Given the description of an element on the screen output the (x, y) to click on. 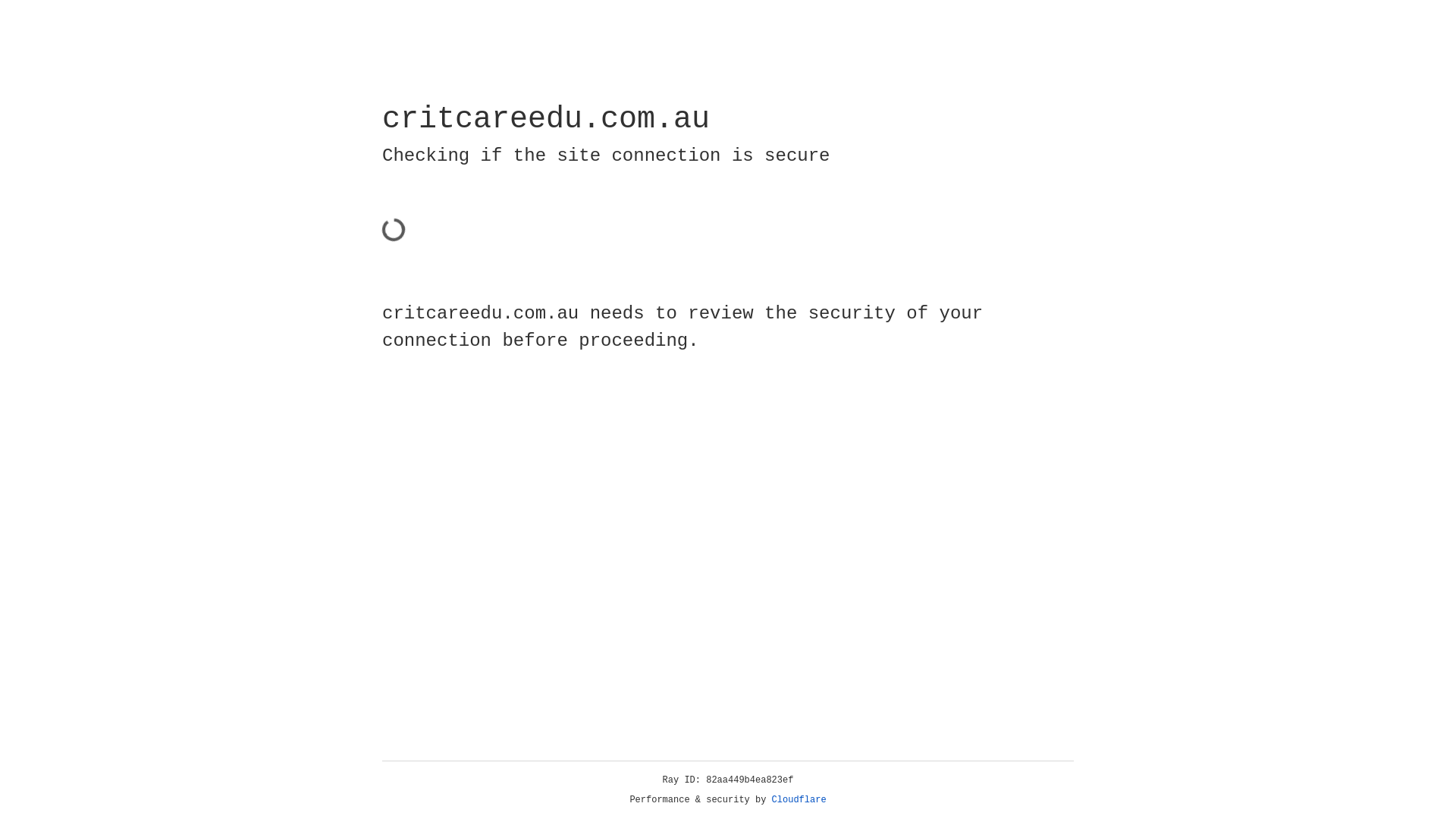
Cloudflare Element type: text (798, 799)
